Given the description of an element on the screen output the (x, y) to click on. 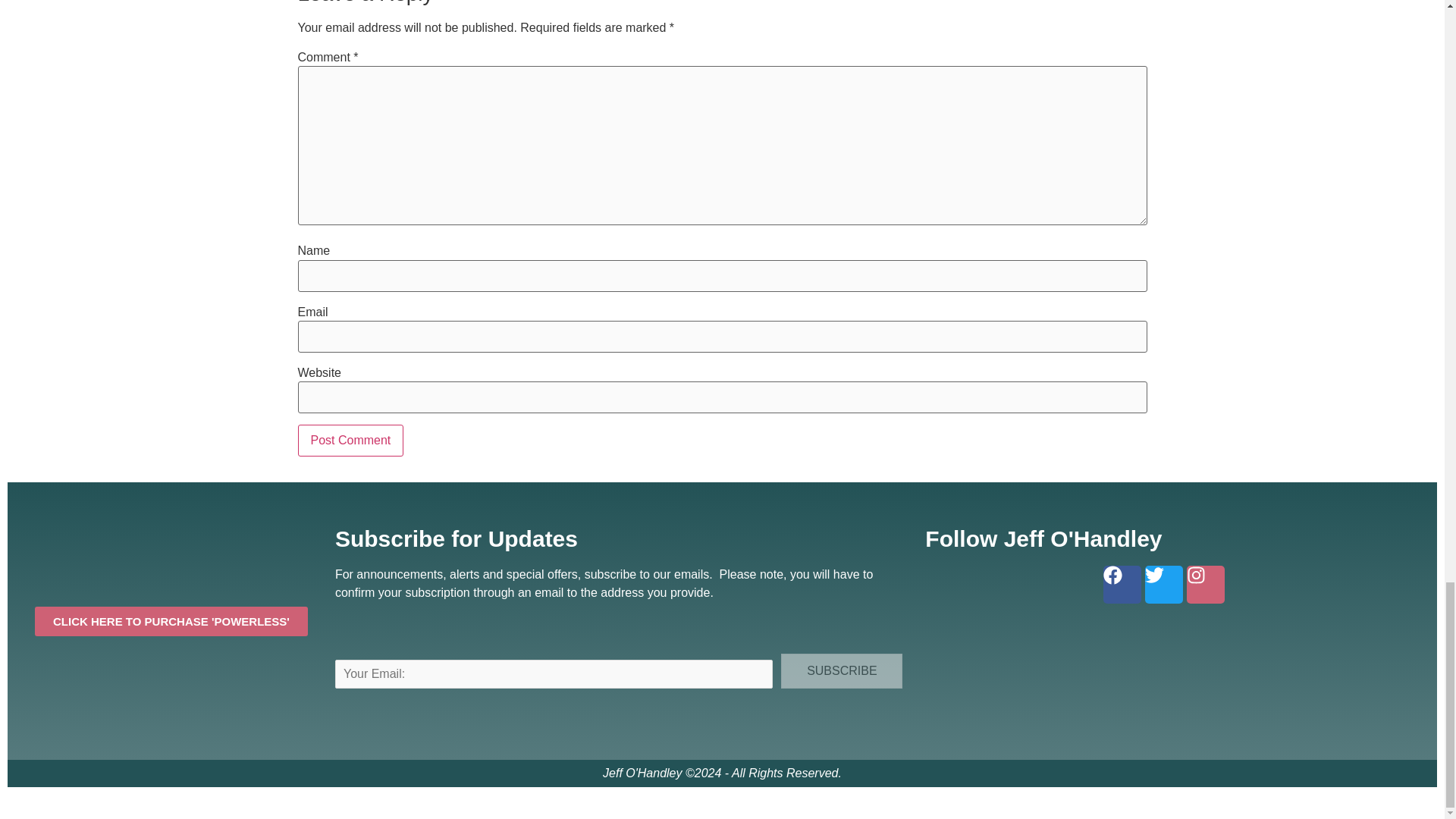
Post Comment (350, 440)
SUBSCRIBE (841, 670)
CLICK HERE TO PURCHASE 'POWERLESS' (170, 621)
Post Comment (350, 440)
